Given the description of an element on the screen output the (x, y) to click on. 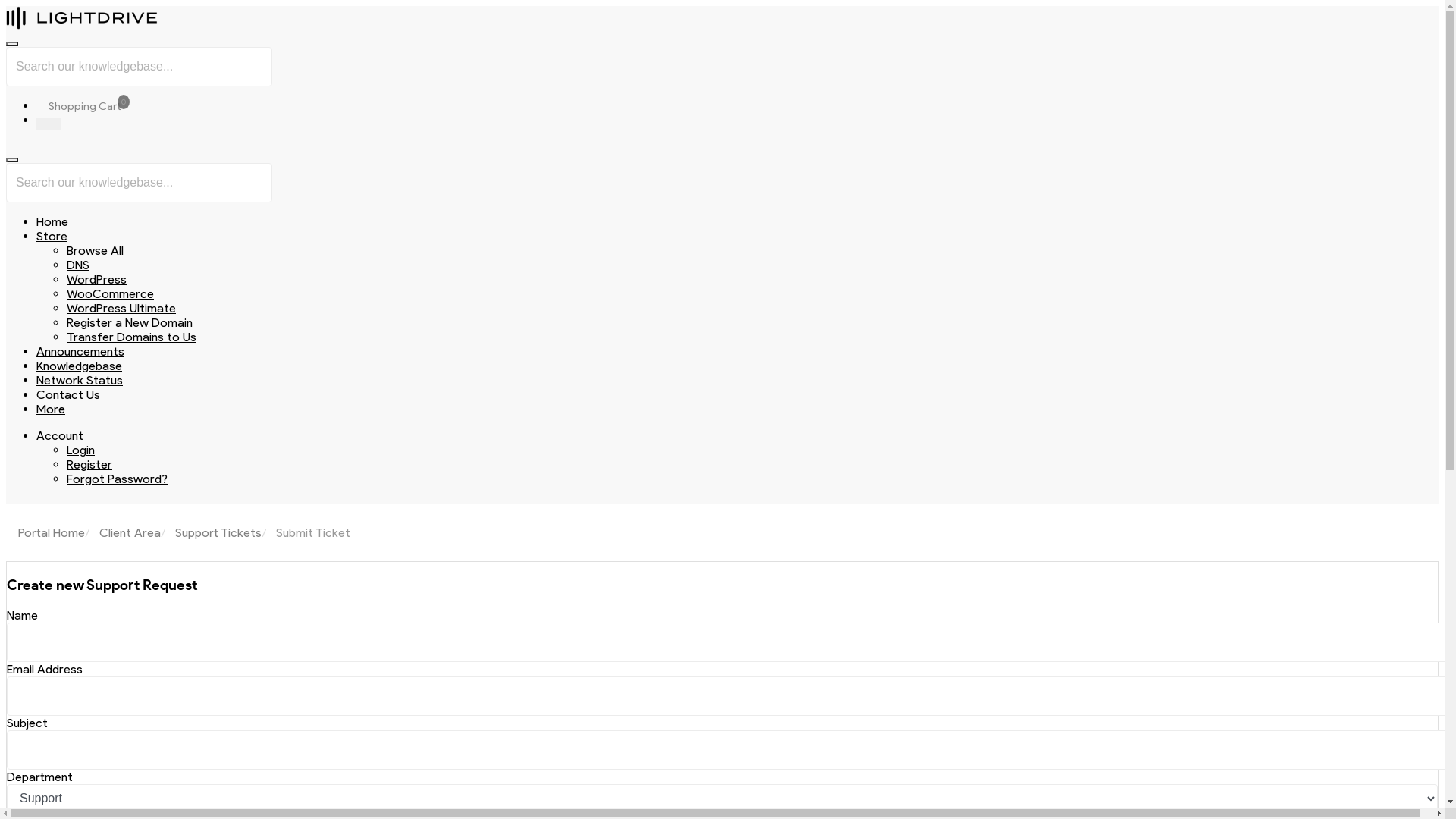
Knowledgebase Element type: text (79, 365)
More Element type: text (50, 408)
Register Element type: text (89, 464)
Portal Home Element type: text (51, 532)
WordPress Element type: text (96, 279)
Store Element type: text (51, 236)
Login Element type: text (80, 449)
Contact Us Element type: text (68, 394)
Support Tickets Element type: text (218, 532)
0
Shopping Cart Element type: text (84, 106)
Network Status Element type: text (79, 380)
WordPress Ultimate Element type: text (120, 308)
Announcements Element type: text (80, 351)
DNS Element type: text (77, 264)
Browse All Element type: text (94, 250)
Register a New Domain Element type: text (129, 322)
Account Element type: text (59, 435)
Client Area Element type: text (129, 532)
Home Element type: text (52, 221)
WooCommerce Element type: text (109, 293)
Transfer Domains to Us Element type: text (131, 336)
Forgot Password? Element type: text (116, 478)
